Given the description of an element on the screen output the (x, y) to click on. 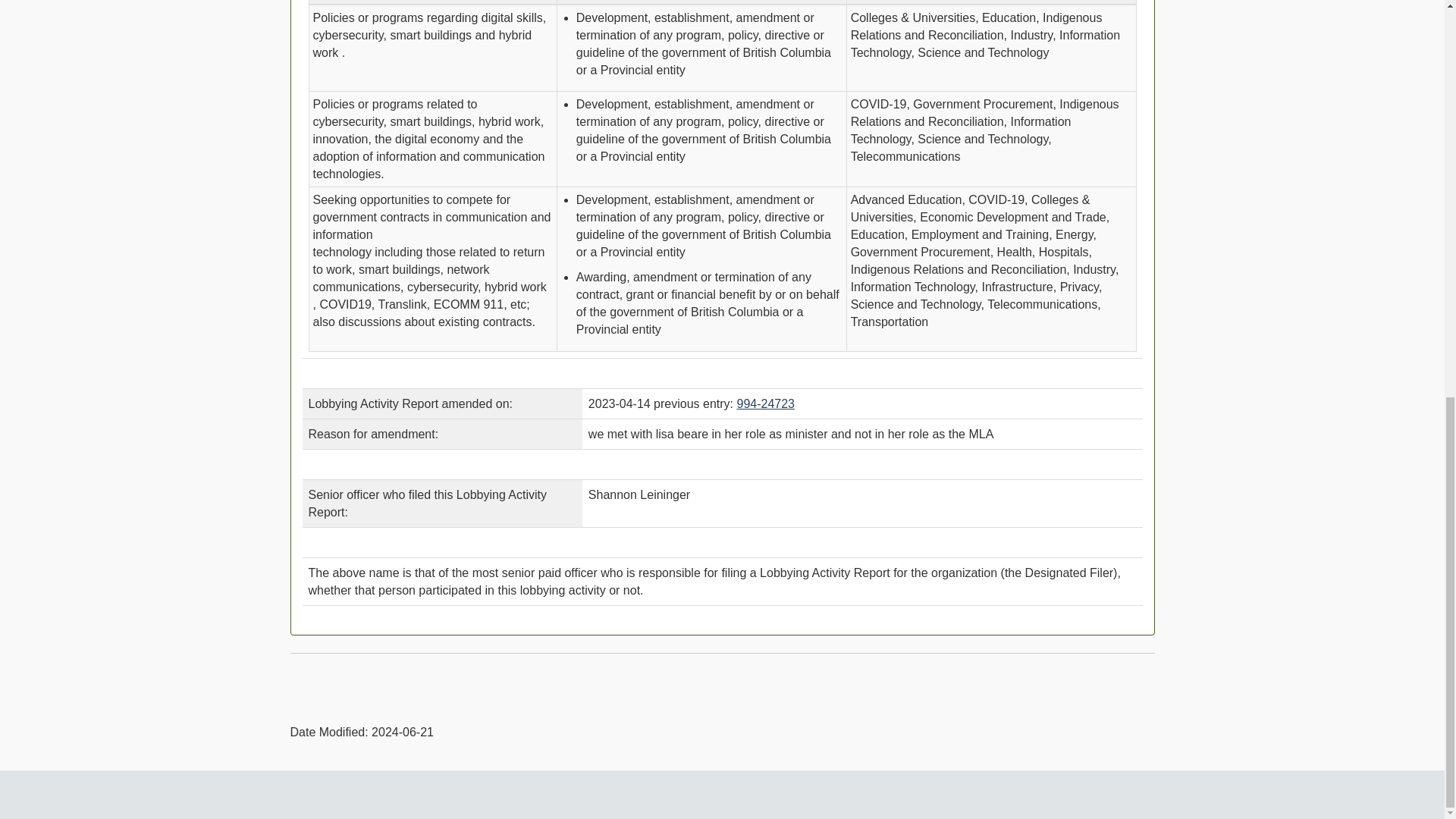
994-24723 (765, 403)
